Given the description of an element on the screen output the (x, y) to click on. 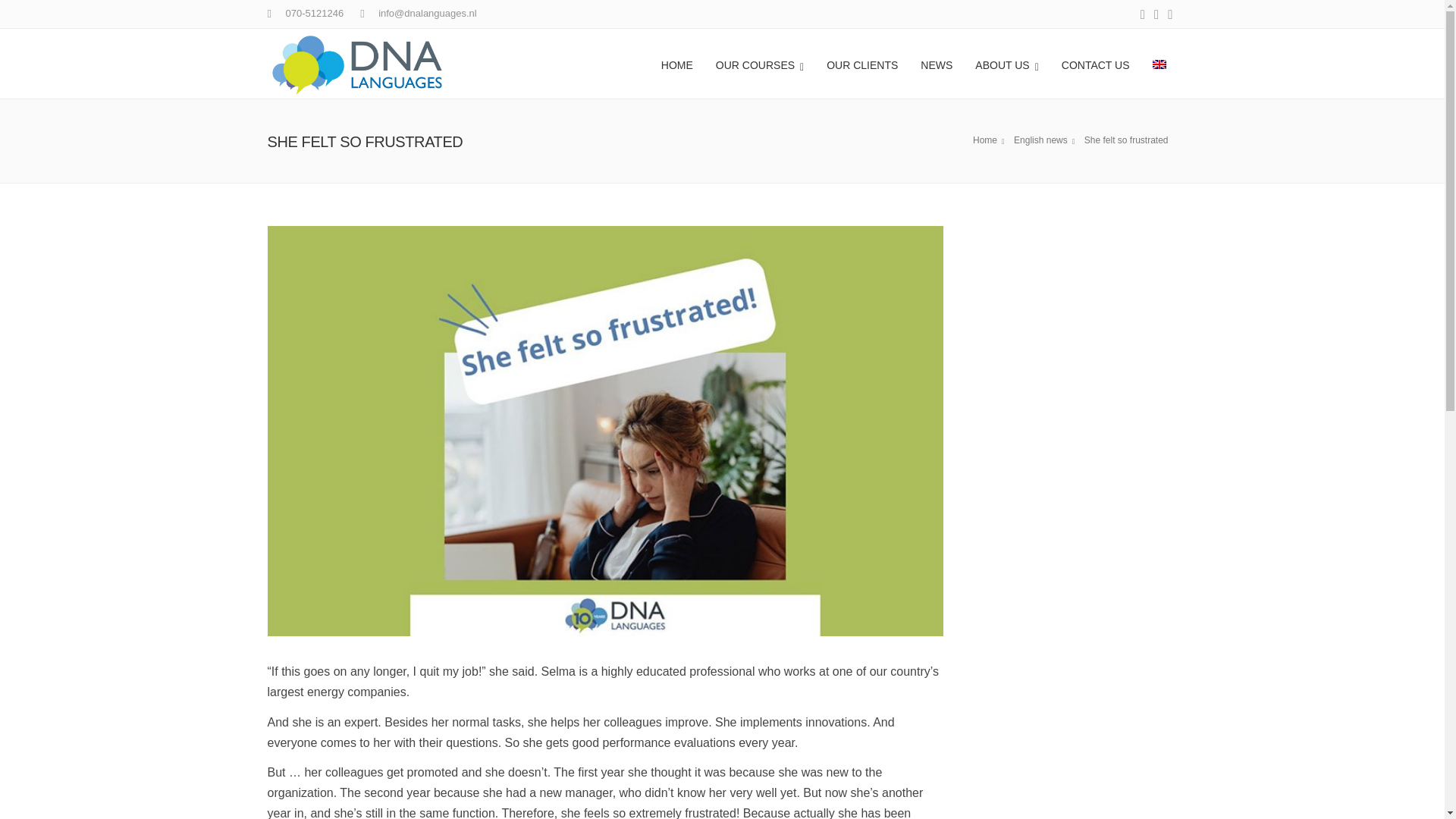
NEWS (935, 63)
Facebook (1142, 15)
ABOUT US (1006, 63)
CONTACT US (1095, 63)
Linkedin (1169, 15)
She felt so frustrated (1046, 140)
OUR COURSES (759, 63)
Twitter (1155, 792)
LinkedIn (1170, 792)
OUR CLIENTS (861, 63)
HOME (676, 63)
Twitter (1156, 15)
Facebook (1142, 792)
She felt so frustrated (1128, 140)
